Given the description of an element on the screen output the (x, y) to click on. 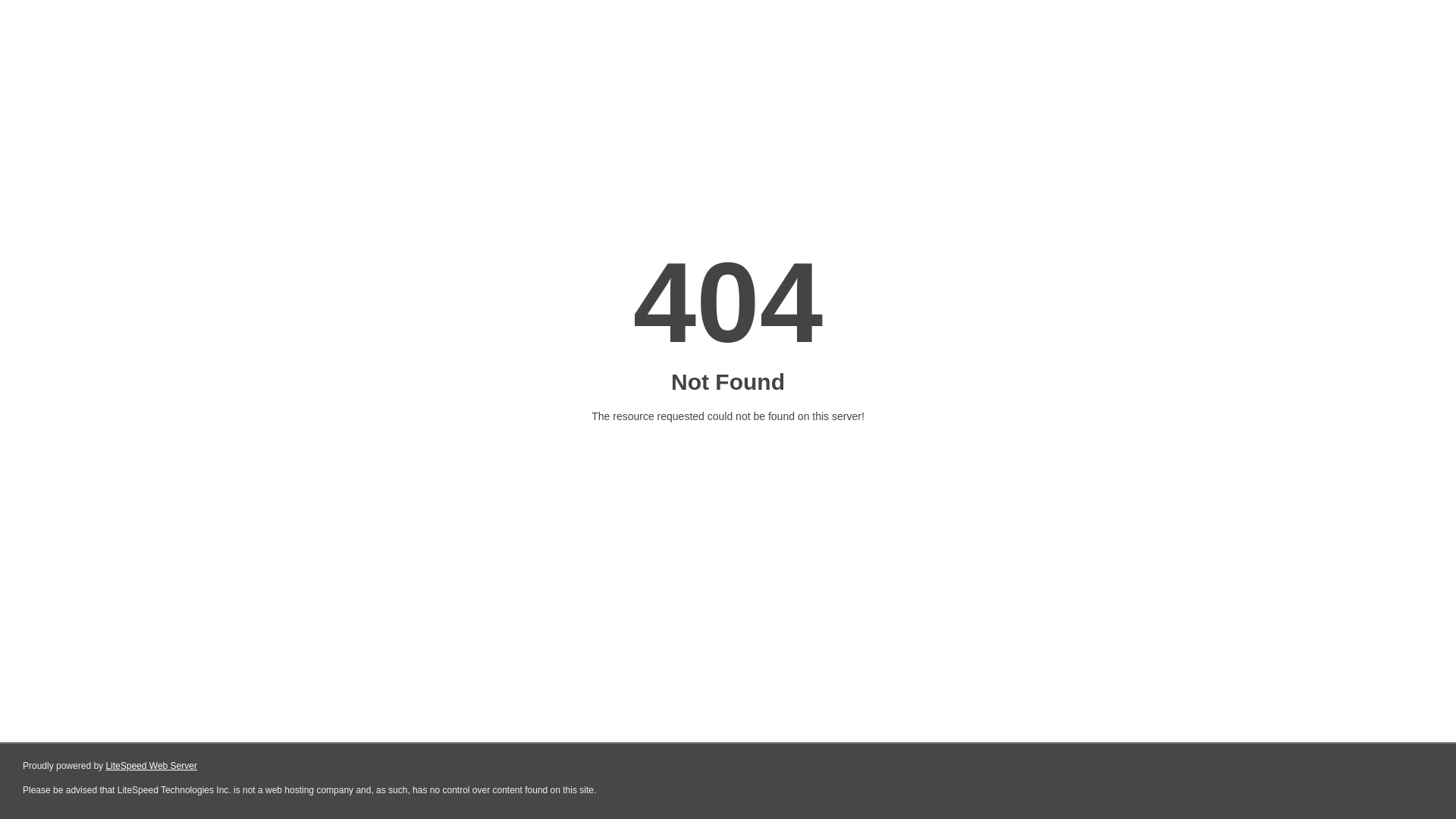
LiteSpeed Web Server Element type: text (151, 765)
